Given the description of an element on the screen output the (x, y) to click on. 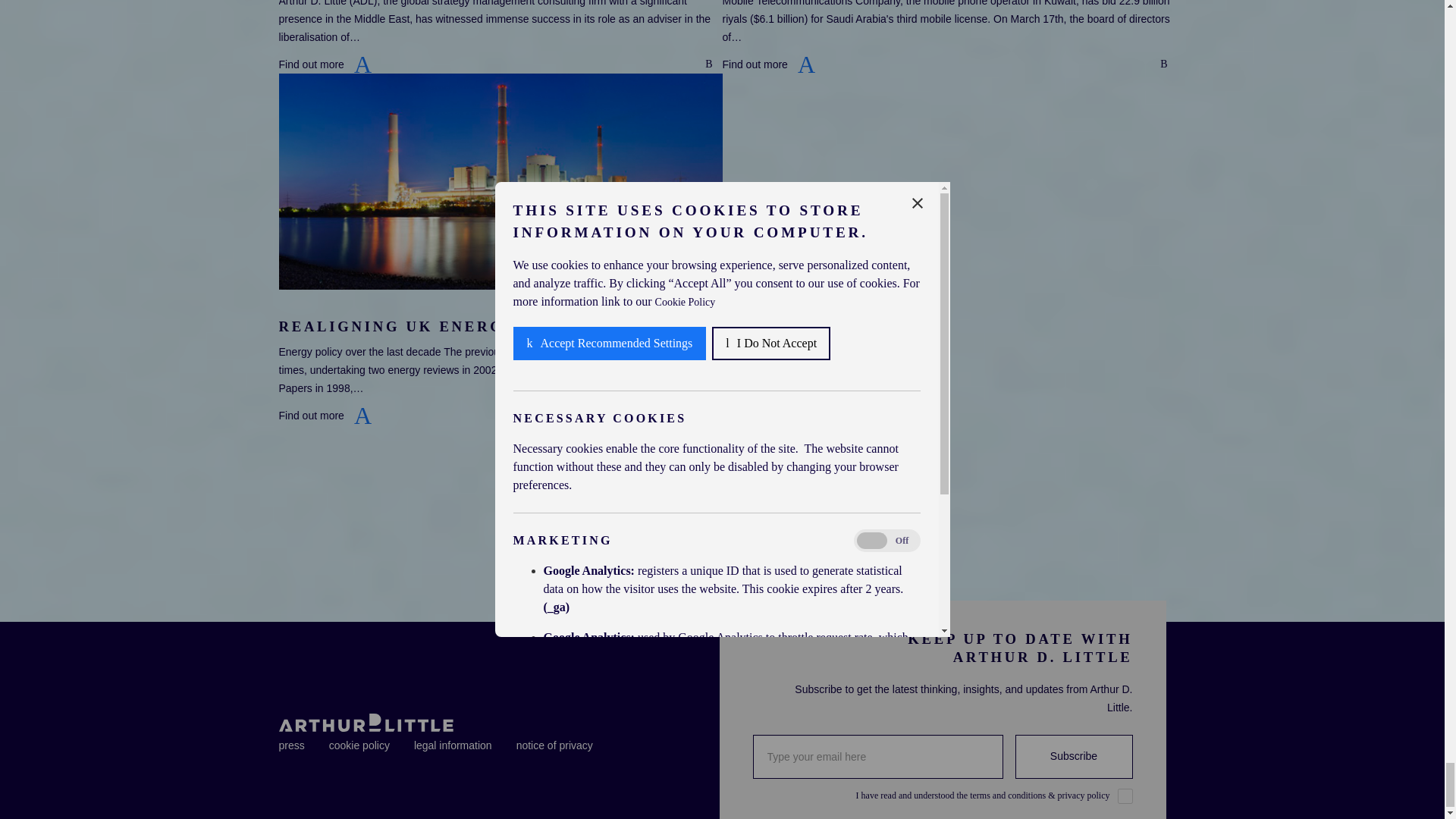
1 (1125, 795)
